Given the description of an element on the screen output the (x, y) to click on. 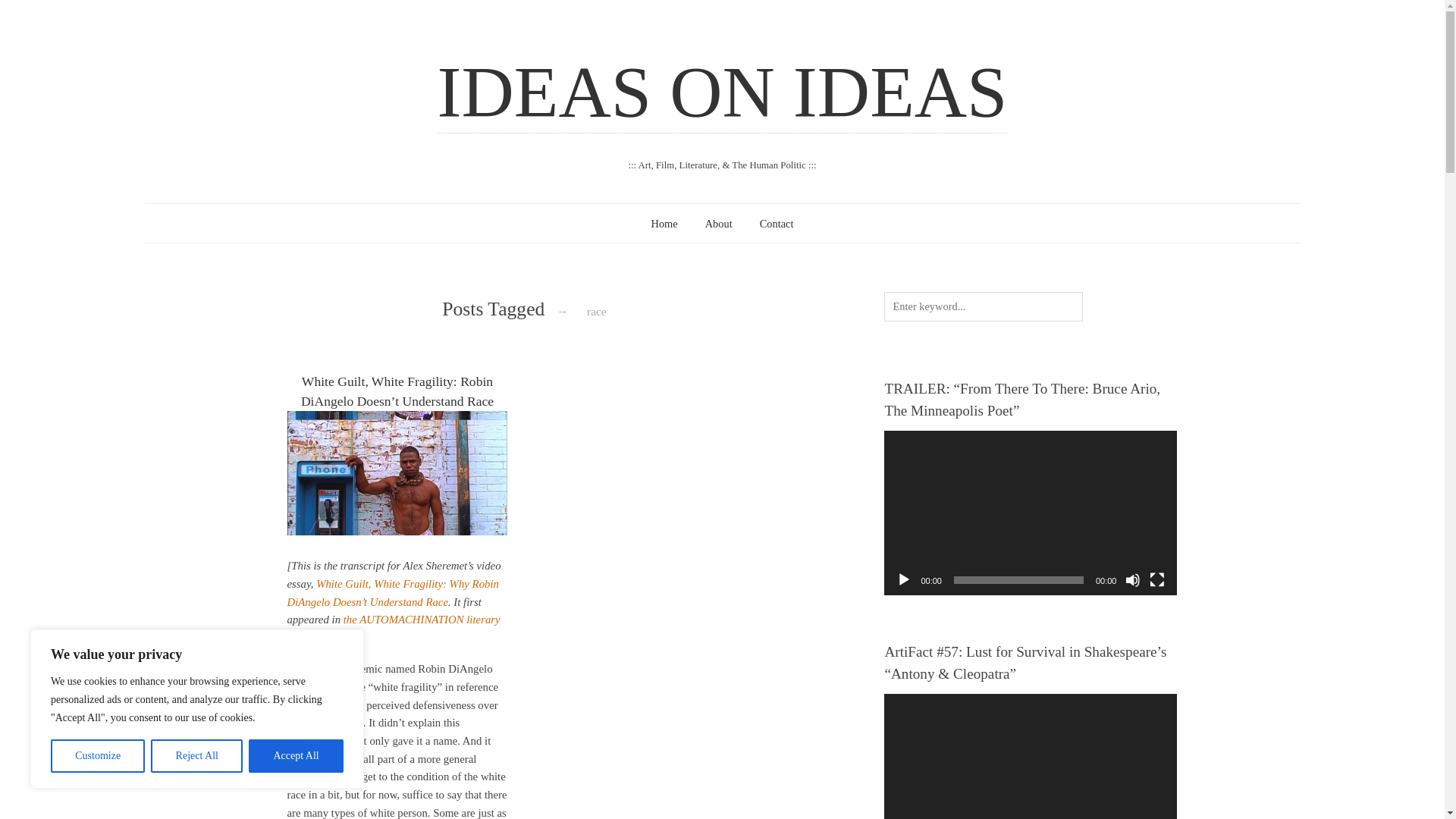
Home (664, 223)
IDEAS ON IDEAS (722, 92)
Customize (97, 756)
the AUTOMACHINATION literary magazine (392, 628)
Mute (1132, 580)
Contact (776, 223)
Fullscreen (1157, 580)
Accept All (295, 756)
Play (903, 580)
About (718, 223)
Home (664, 223)
About (718, 223)
Search (37, 14)
Reject All (197, 756)
